Given the description of an element on the screen output the (x, y) to click on. 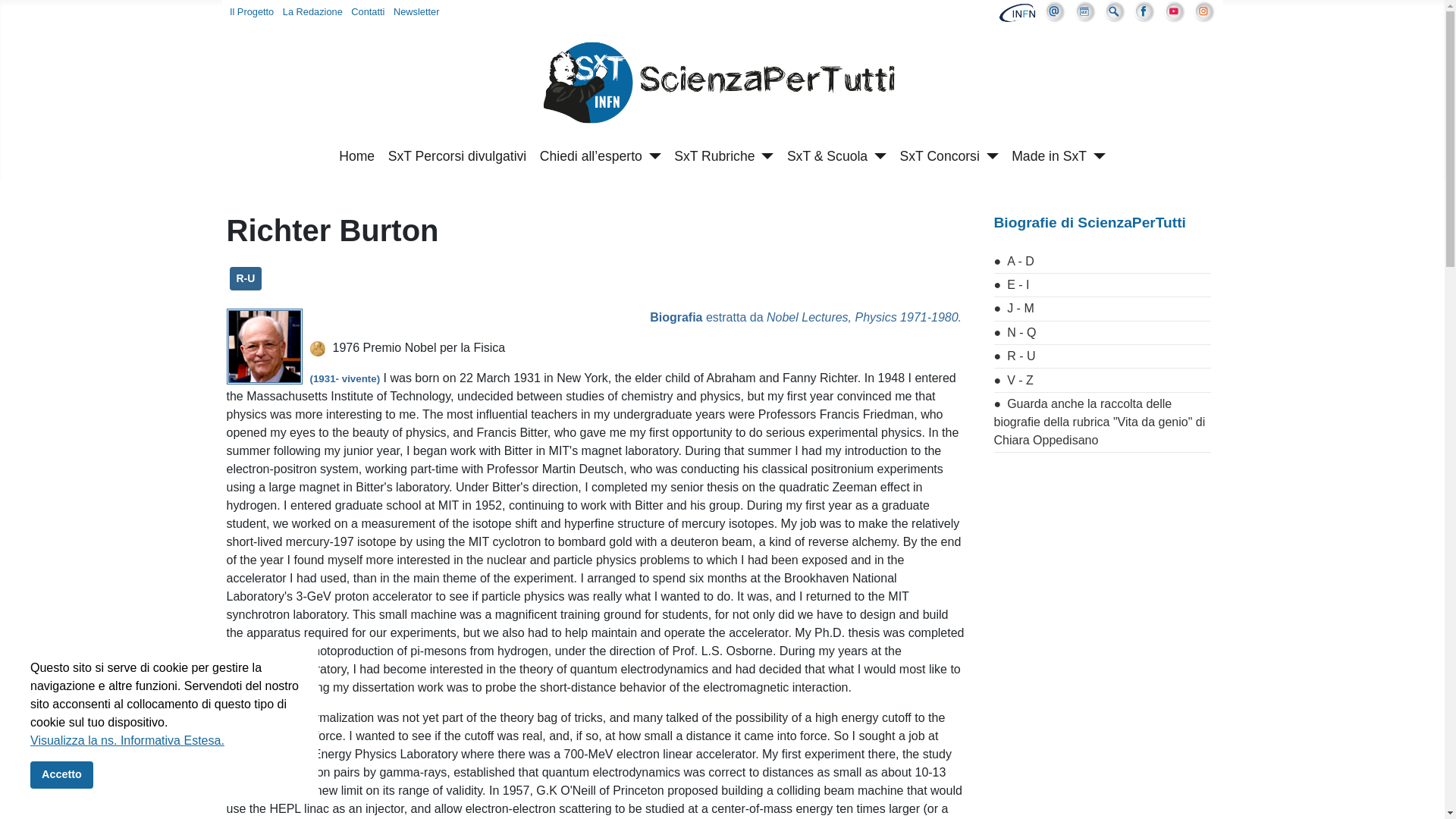
Scrivici (367, 11)
Newsletter (416, 11)
La Redazione (312, 11)
Il Progetto (251, 11)
Home (356, 155)
Il Progetto (251, 11)
Contatti (367, 11)
Newsletter (416, 11)
Scienza per tutti (722, 84)
La Redazione (312, 11)
SxT Rubriche (723, 155)
SxT Concorsi (948, 155)
SxT Percorsi divulgativi (457, 155)
